Given the description of an element on the screen output the (x, y) to click on. 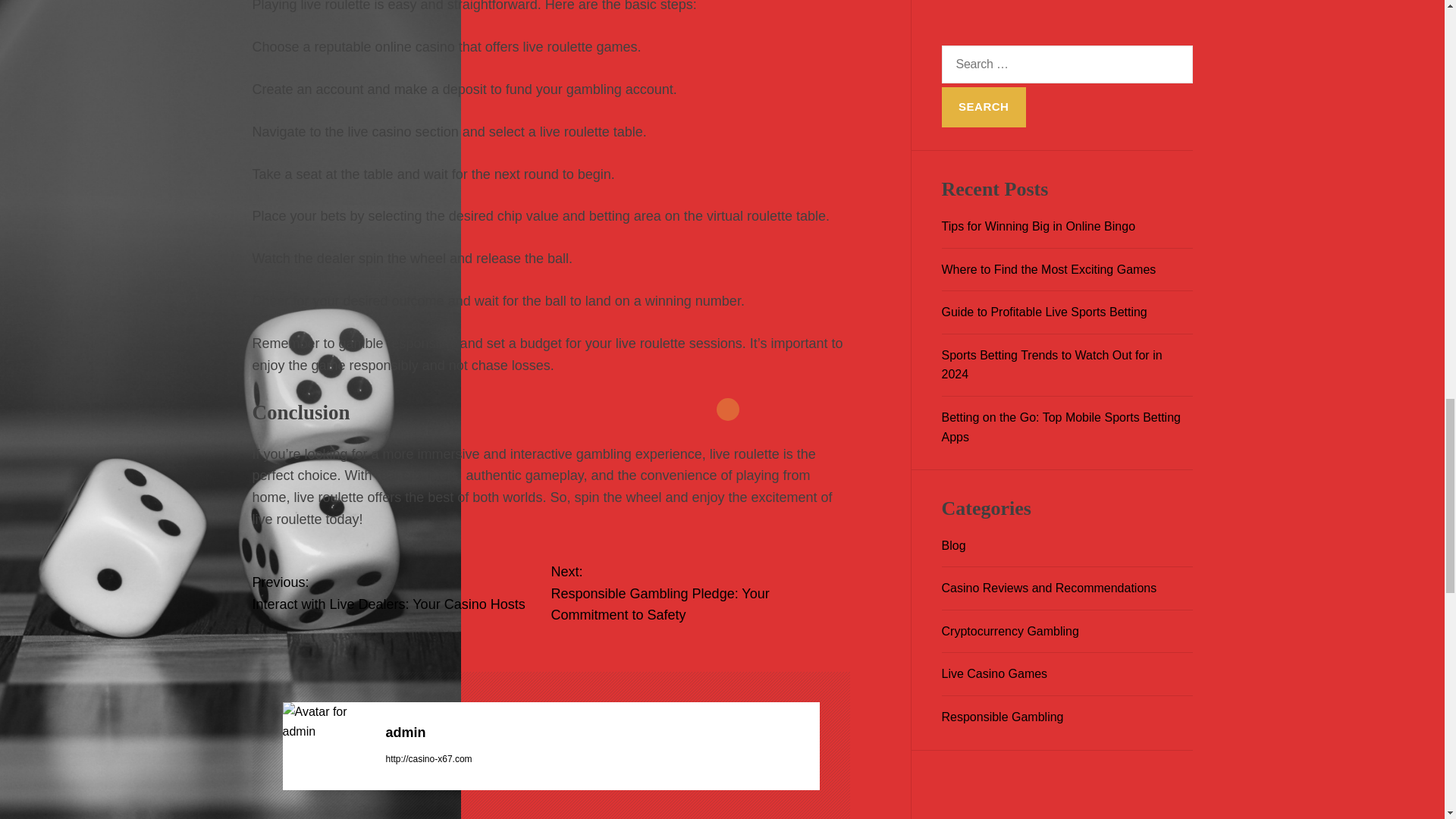
admin (400, 593)
admin (699, 593)
admin (325, 721)
